Given the description of an element on the screen output the (x, y) to click on. 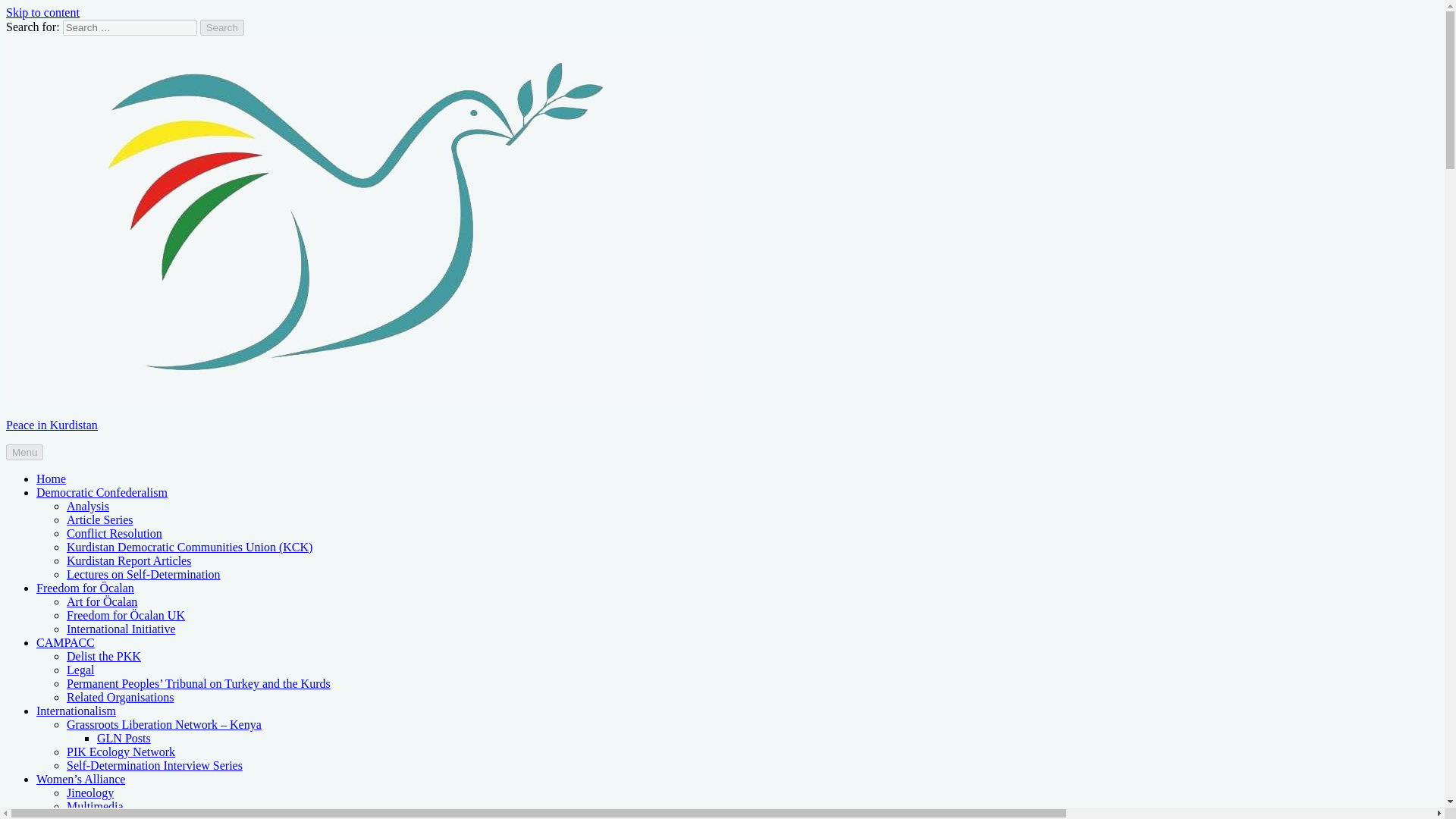
Democratic Confederalism (101, 492)
Search (222, 27)
Skip to content (42, 11)
International Initiative (121, 628)
Search for: (129, 27)
Lectures on Self-Determination (143, 574)
Home (50, 478)
Related Organisations (119, 697)
Peace in Kurdistan (51, 424)
Menu (24, 452)
